Given the description of an element on the screen output the (x, y) to click on. 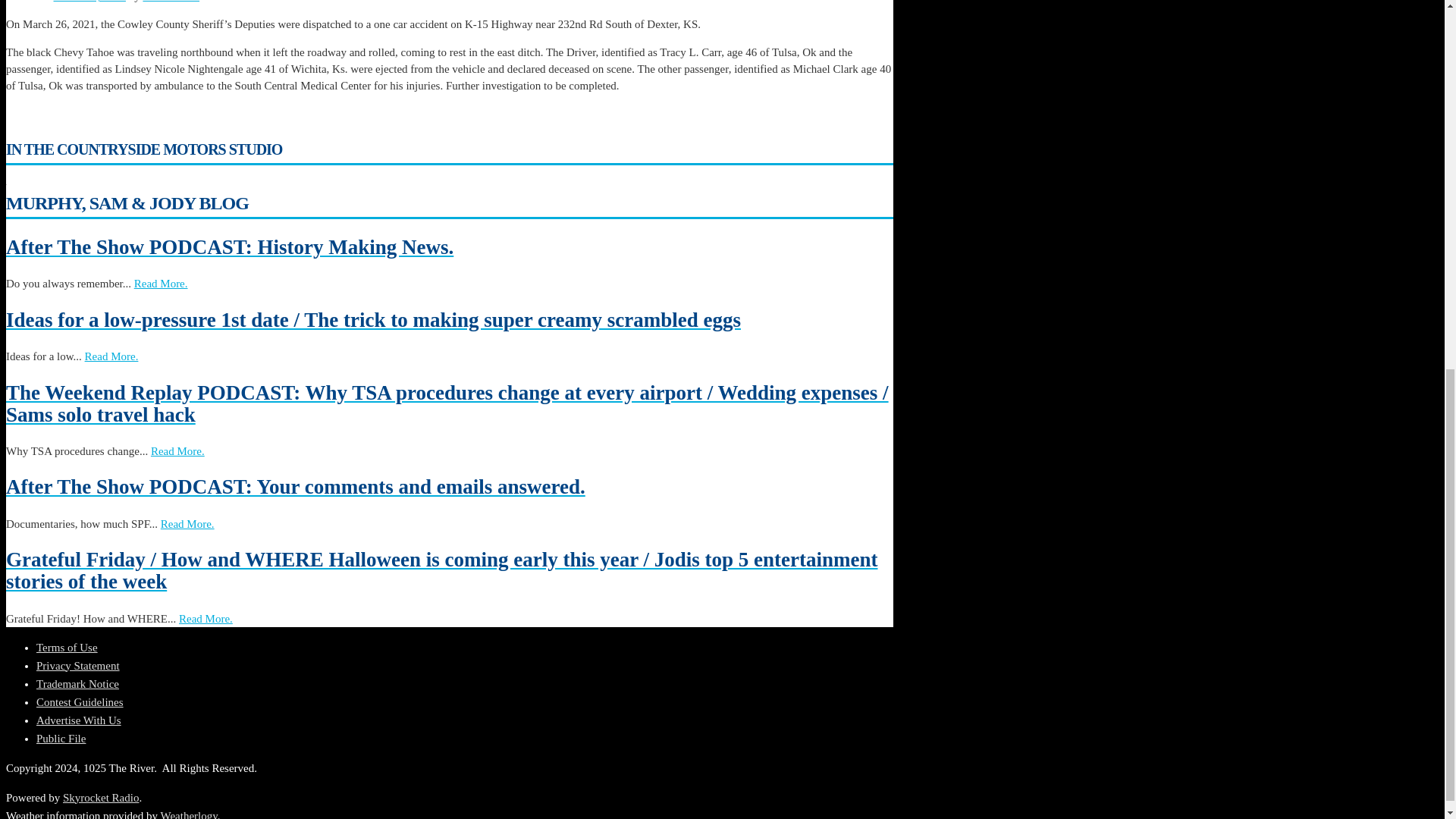
View all posts by News Room (170, 1)
News Room (170, 1)
Read More. (160, 283)
March 26, 2021 (89, 1)
11:44 am (89, 1)
Read More. (111, 356)
After The Show PODCAST: History Making News. (449, 247)
Permalink to After The Show PODCAST: History Making News. (449, 247)
